Given the description of an element on the screen output the (x, y) to click on. 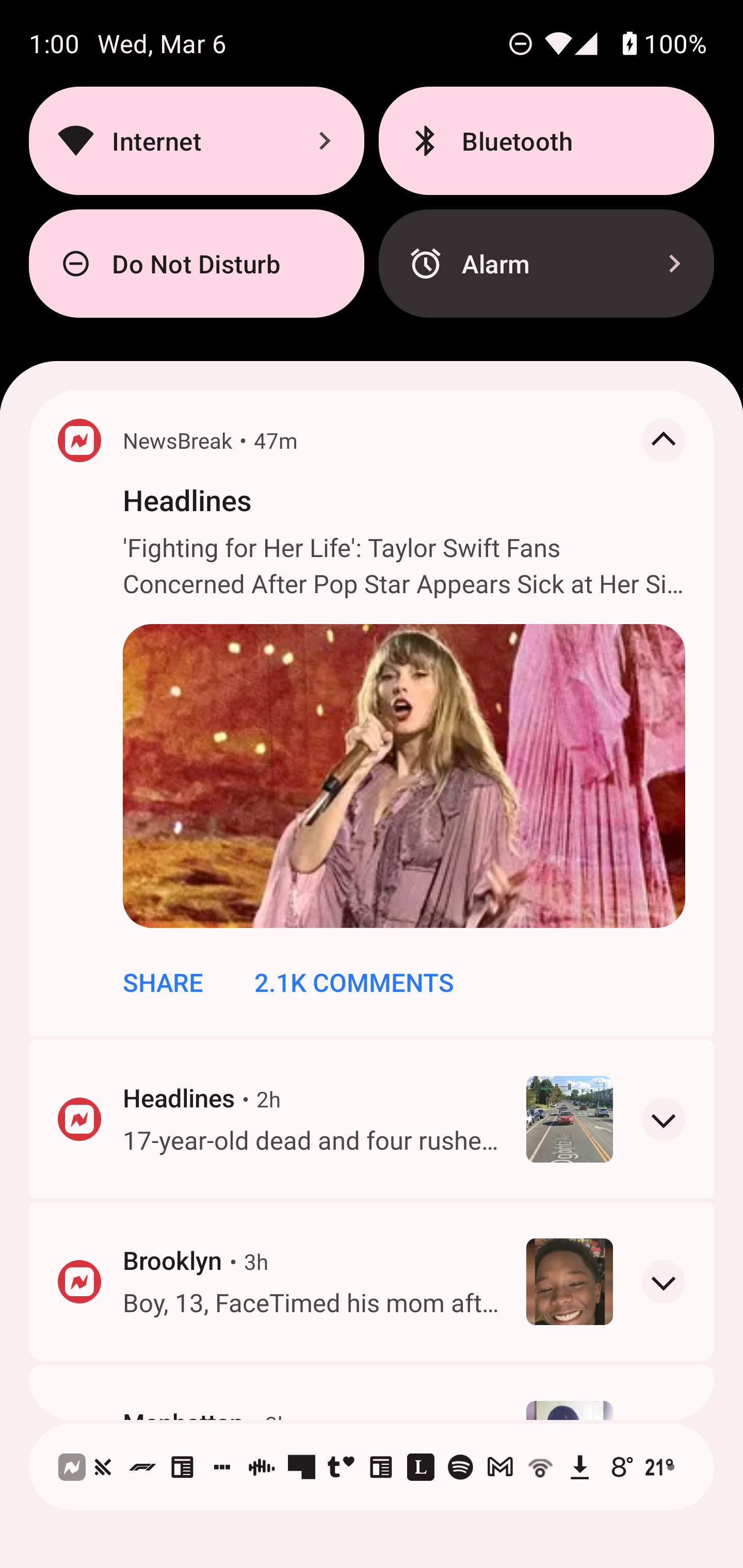
On Internet,AndroidWifi Internet (196, 140)
On Bluetooth. Bluetooth (546, 140)
On Do Not Disturb.,  Do Not Disturb (196, 264)
Alarm, No alarm set Alarm (546, 264)
Collapse (663, 440)
SHARE Share (163, 982)
2.1K COMMENTS 2.1K Comments (353, 982)
Expand (663, 1118)
Expand (663, 1281)
